Given the description of an element on the screen output the (x, y) to click on. 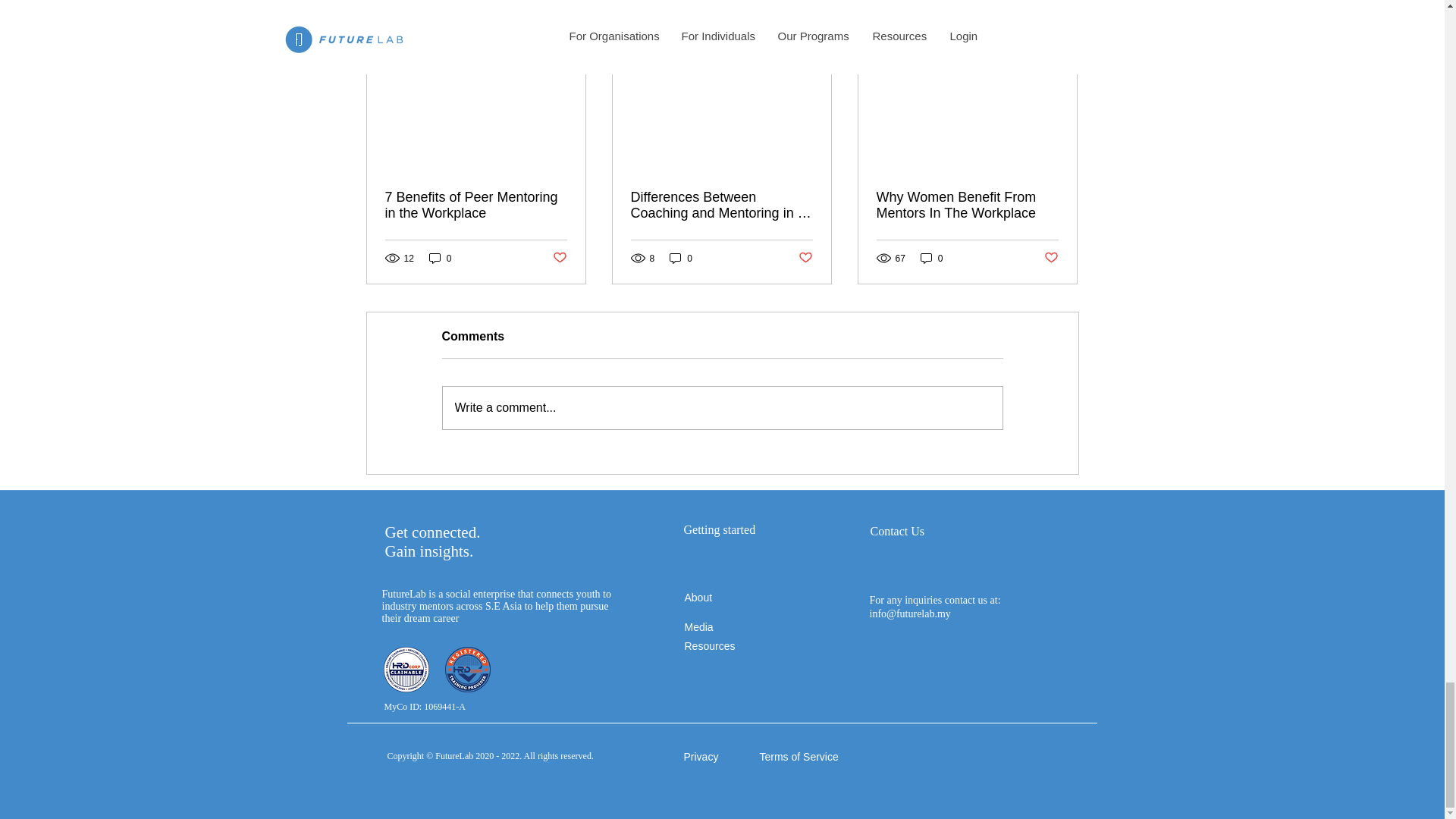
0 (681, 257)
Post not marked as liked (1050, 258)
Why Women Benefit From Mentors In The Workplace (967, 205)
Write a comment... (722, 407)
Post not marked as liked (804, 258)
See All (1061, 21)
7 Benefits of Peer Mentoring in the Workplace (476, 205)
Post not marked as liked (558, 258)
0 (440, 257)
HRD Corp - Claimable Logo.png (406, 669)
0 (931, 257)
Differences Between Coaching and Mentoring in a Workplace (721, 205)
